Given the description of an element on the screen output the (x, y) to click on. 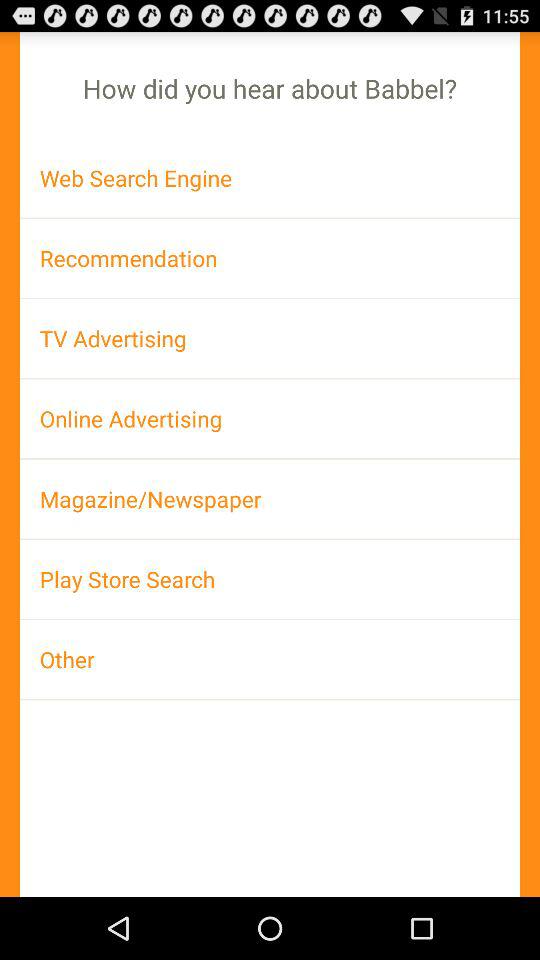
launch tv advertising app (269, 338)
